Given the description of an element on the screen output the (x, y) to click on. 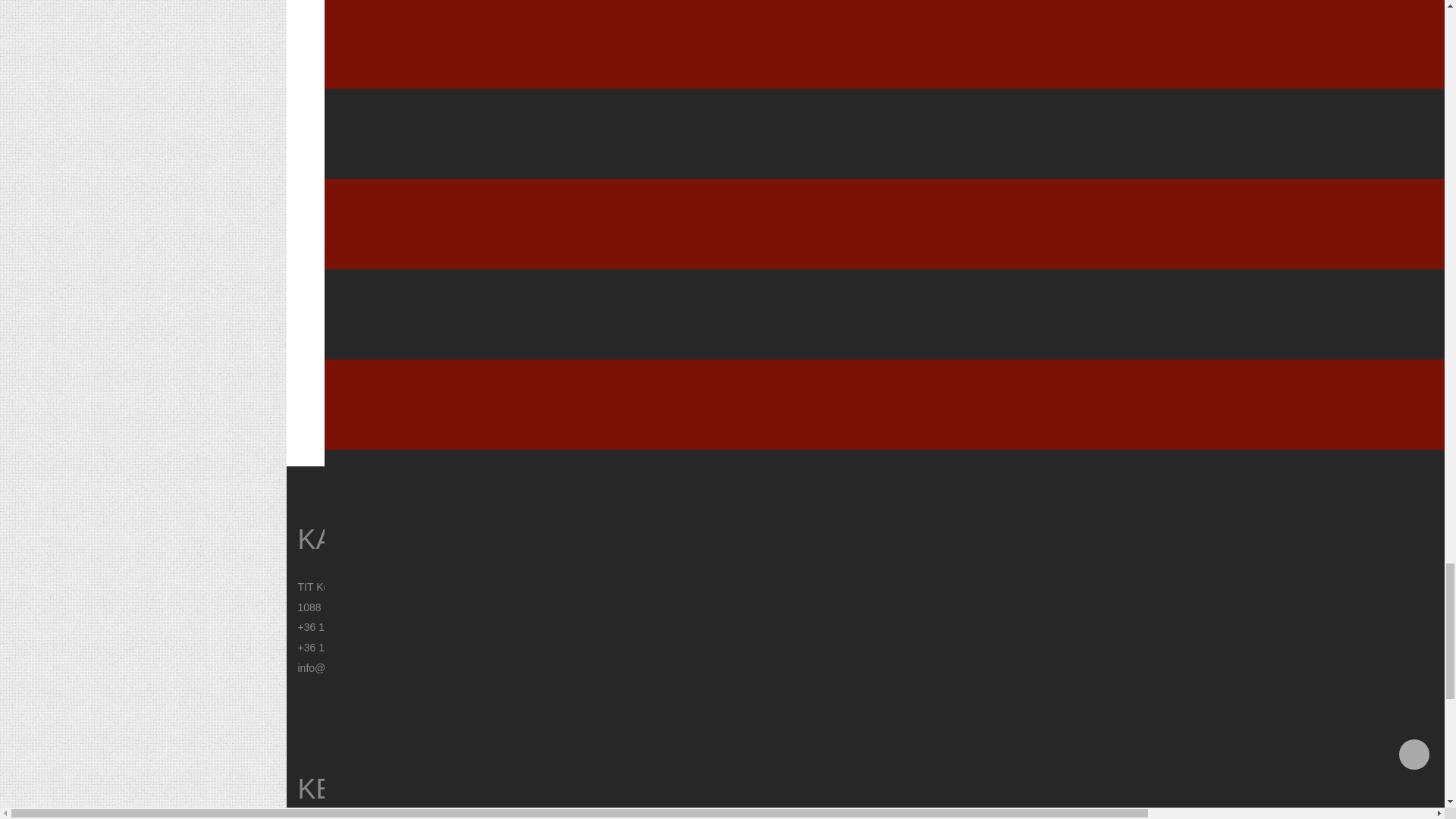
PARTNEREINK (1045, 773)
